Given the description of an element on the screen output the (x, y) to click on. 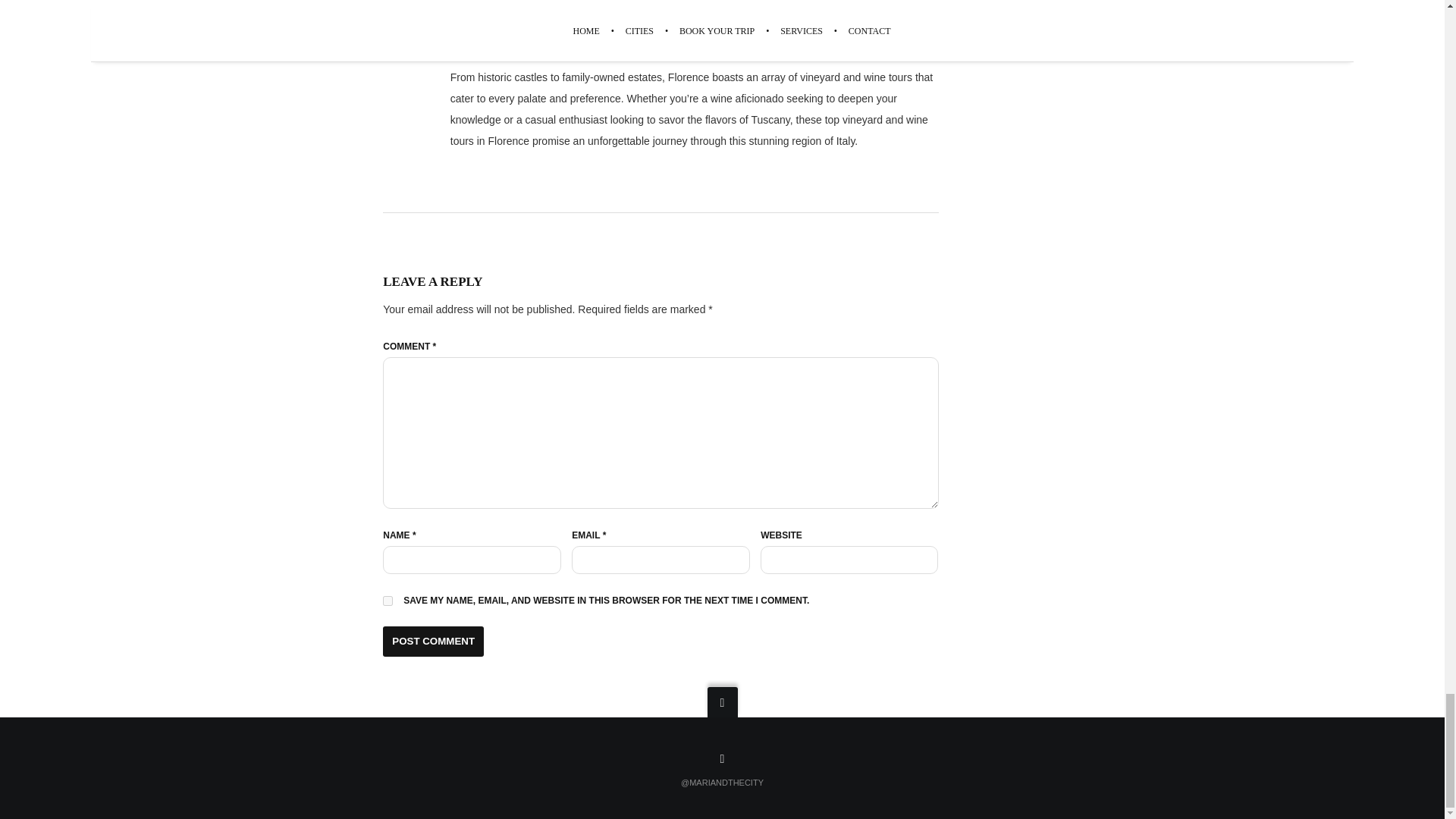
Post Comment (432, 641)
yes (387, 601)
